Given the description of an element on the screen output the (x, y) to click on. 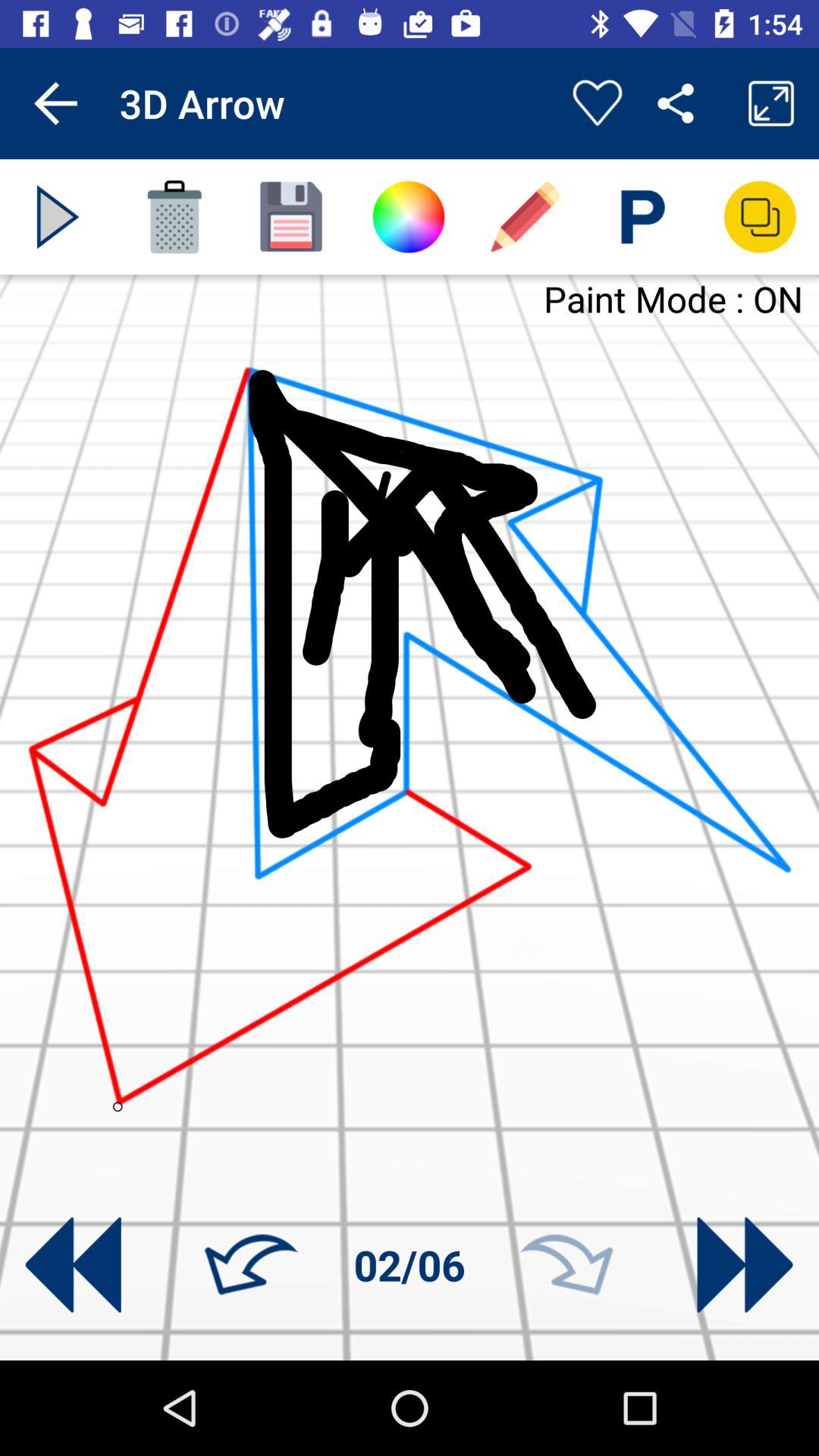
repeat last input (566, 1264)
